Given the description of an element on the screen output the (x, y) to click on. 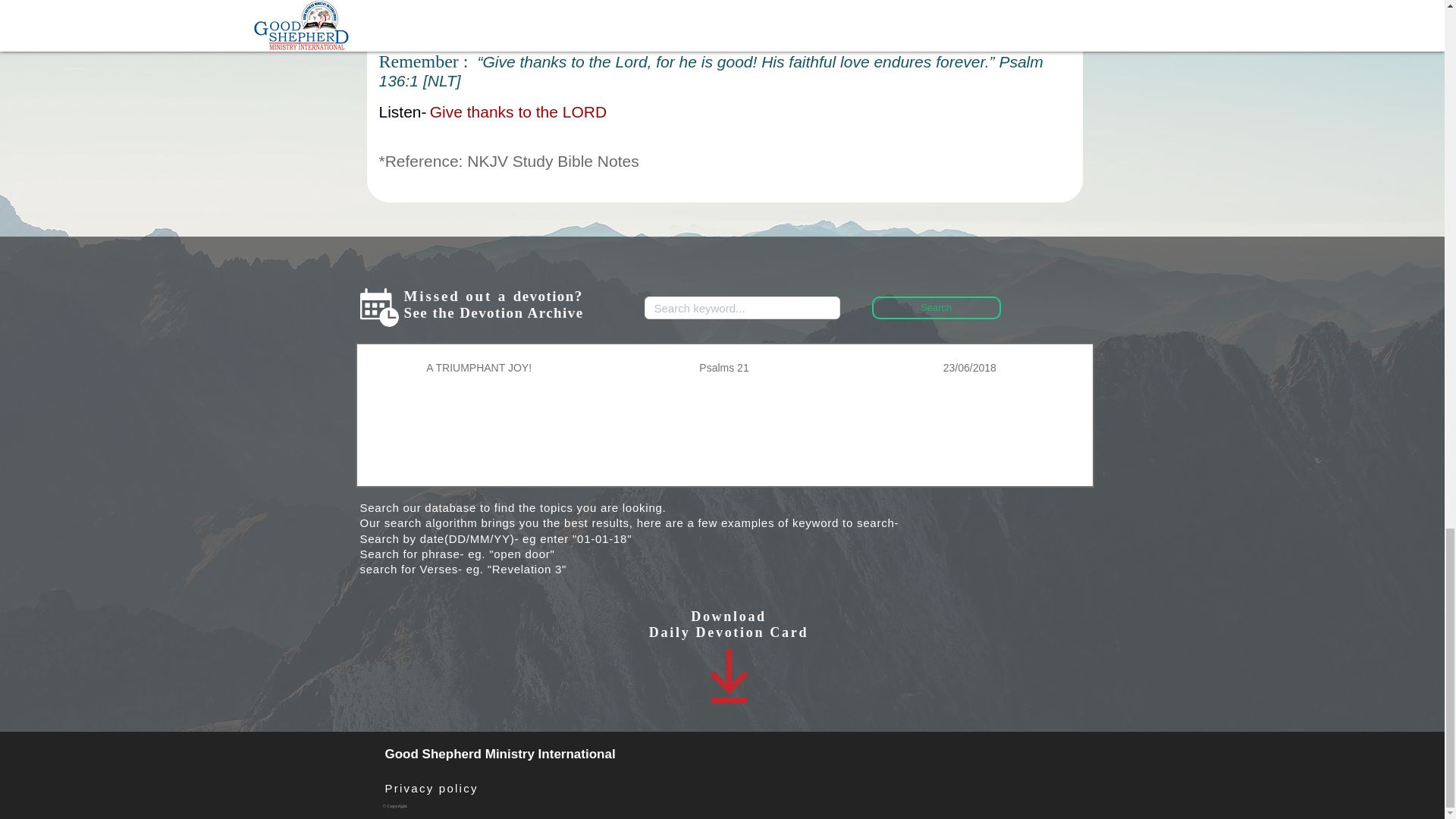
A TRIUMPHANT JOY! (477, 368)
Psalms 21 (723, 368)
Psalm 136:1 (710, 71)
Give thanks to the LORD (518, 111)
Privacy policy (432, 788)
